Given the description of an element on the screen output the (x, y) to click on. 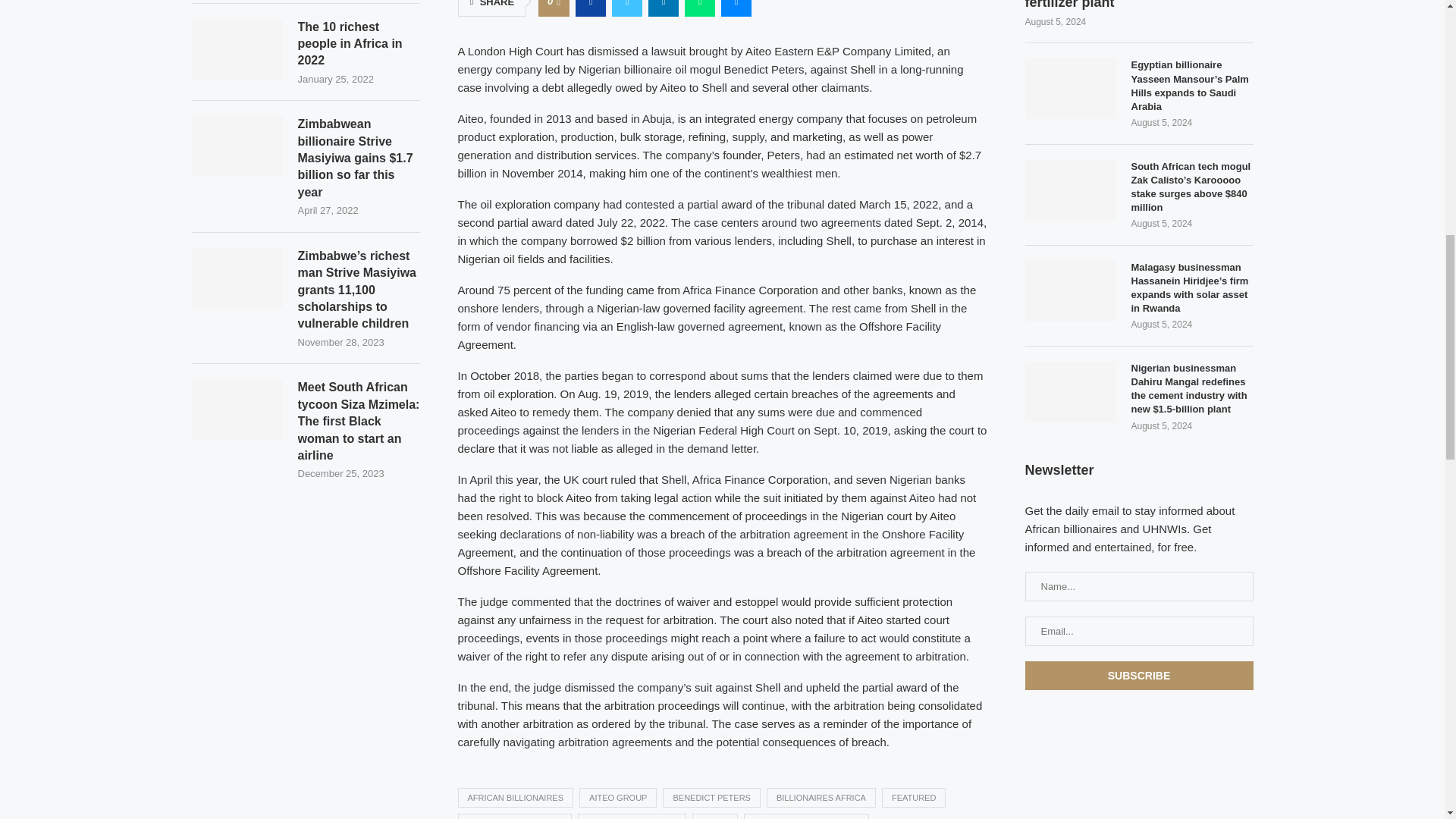
Subscribe (1139, 675)
